Given the description of an element on the screen output the (x, y) to click on. 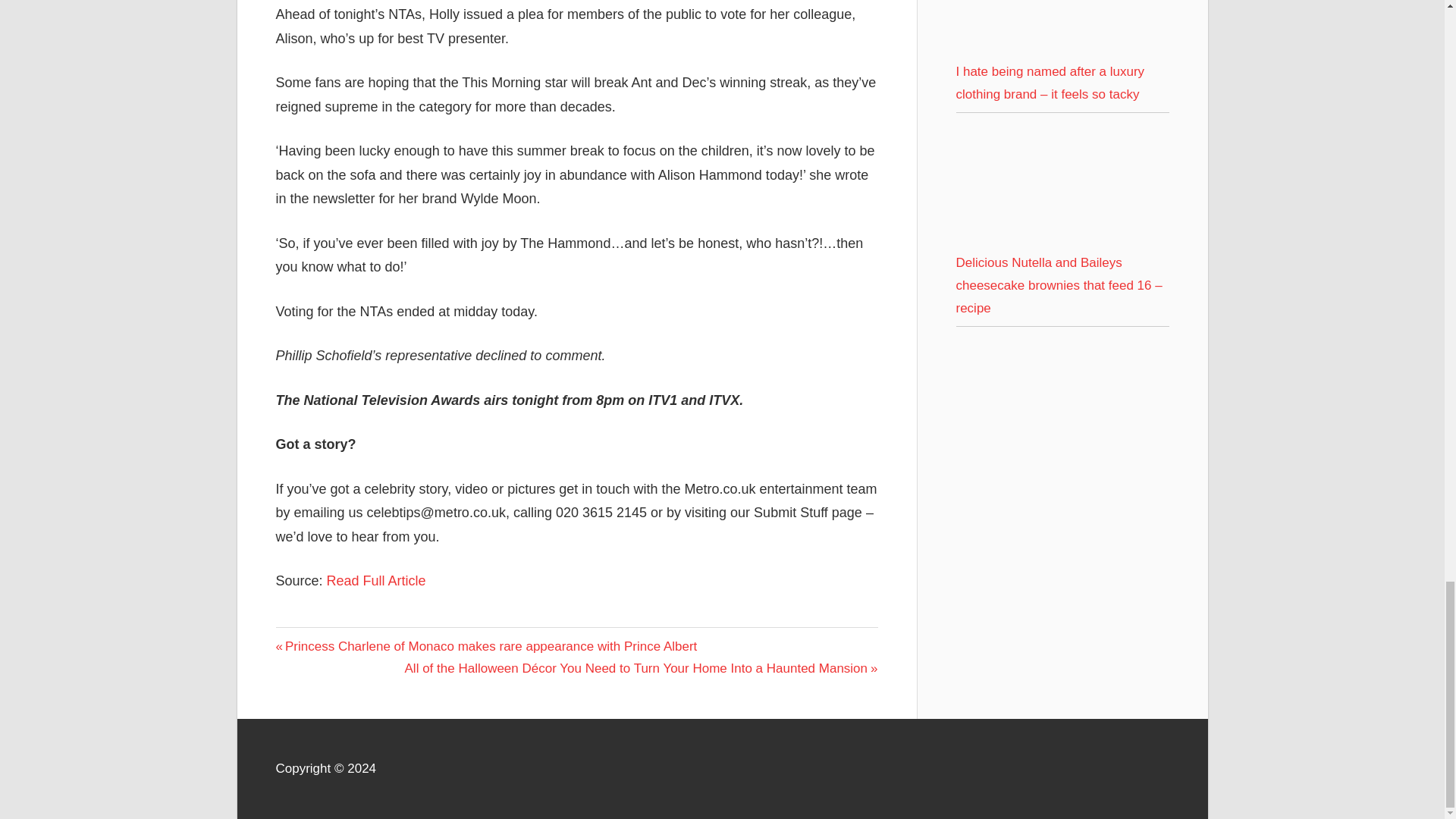
ENTERTAINMENT (328, 640)
Read Full Article (376, 580)
